Given the description of an element on the screen output the (x, y) to click on. 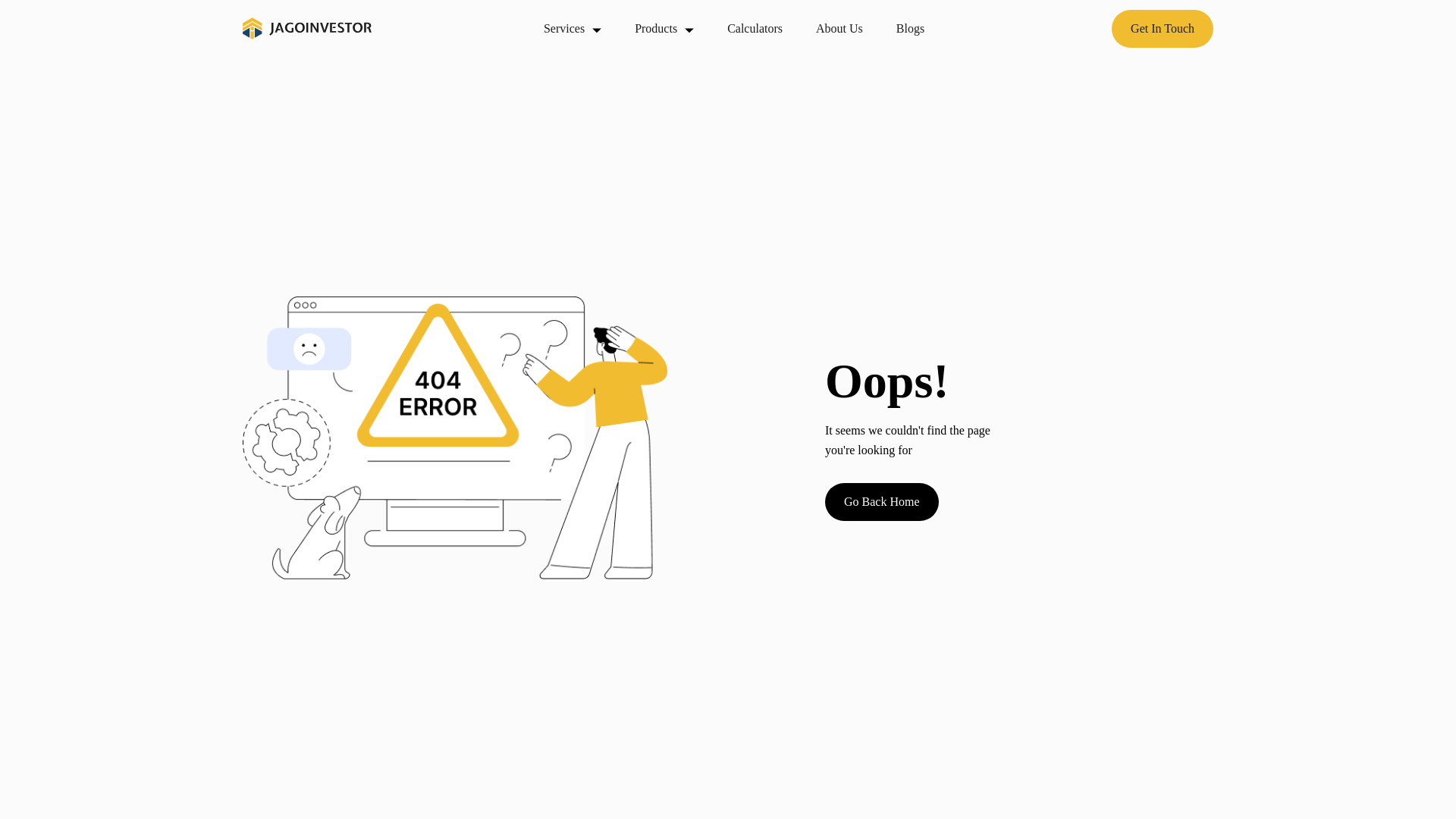
About Us (839, 27)
Get In Touch (1162, 27)
Calculators (754, 27)
Services (572, 27)
Blogs (910, 27)
Products (664, 27)
Go Back Home (882, 501)
